Given the description of an element on the screen output the (x, y) to click on. 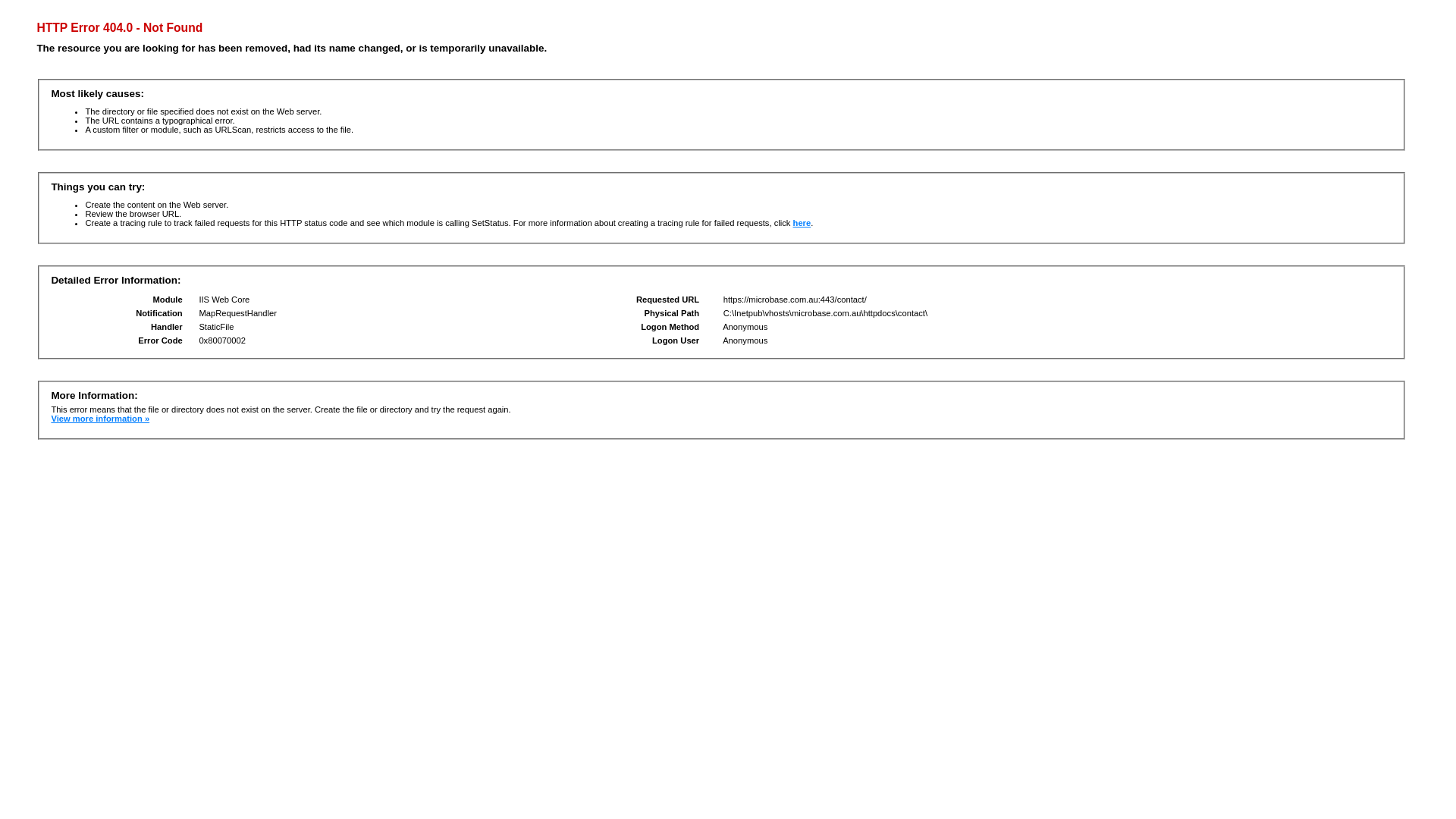
here Element type: text (802, 222)
